Given the description of an element on the screen output the (x, y) to click on. 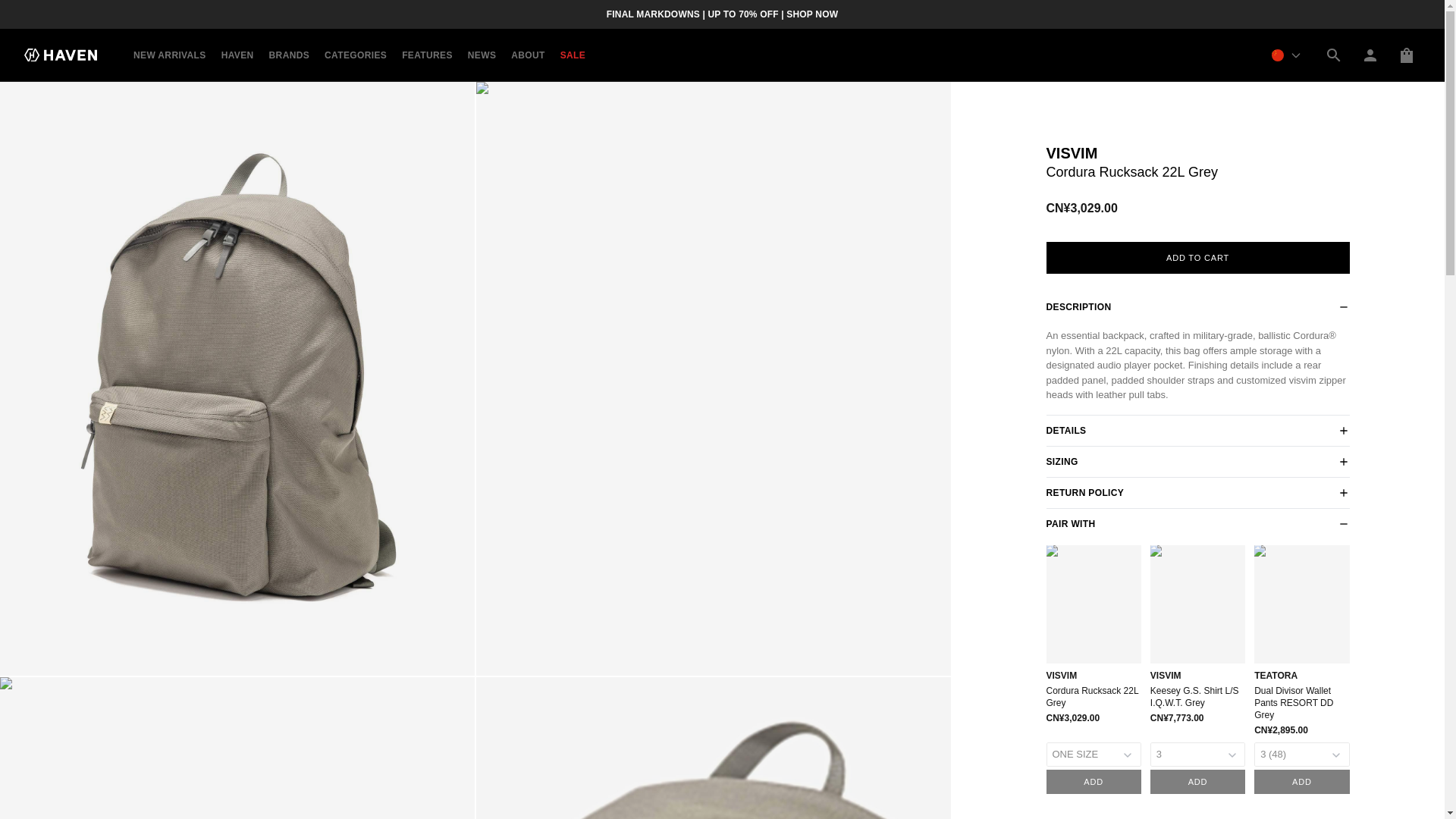
ABOUT (527, 54)
ADD TO CART (1197, 256)
BRANDS (289, 54)
DETAILS (1197, 430)
NEW ARRIVALS (169, 54)
RETURN POLICY (1197, 492)
SIZING (1197, 460)
PAIR WITH (1197, 522)
FEATURES (426, 54)
HAVEN (237, 54)
